Given the description of an element on the screen output the (x, y) to click on. 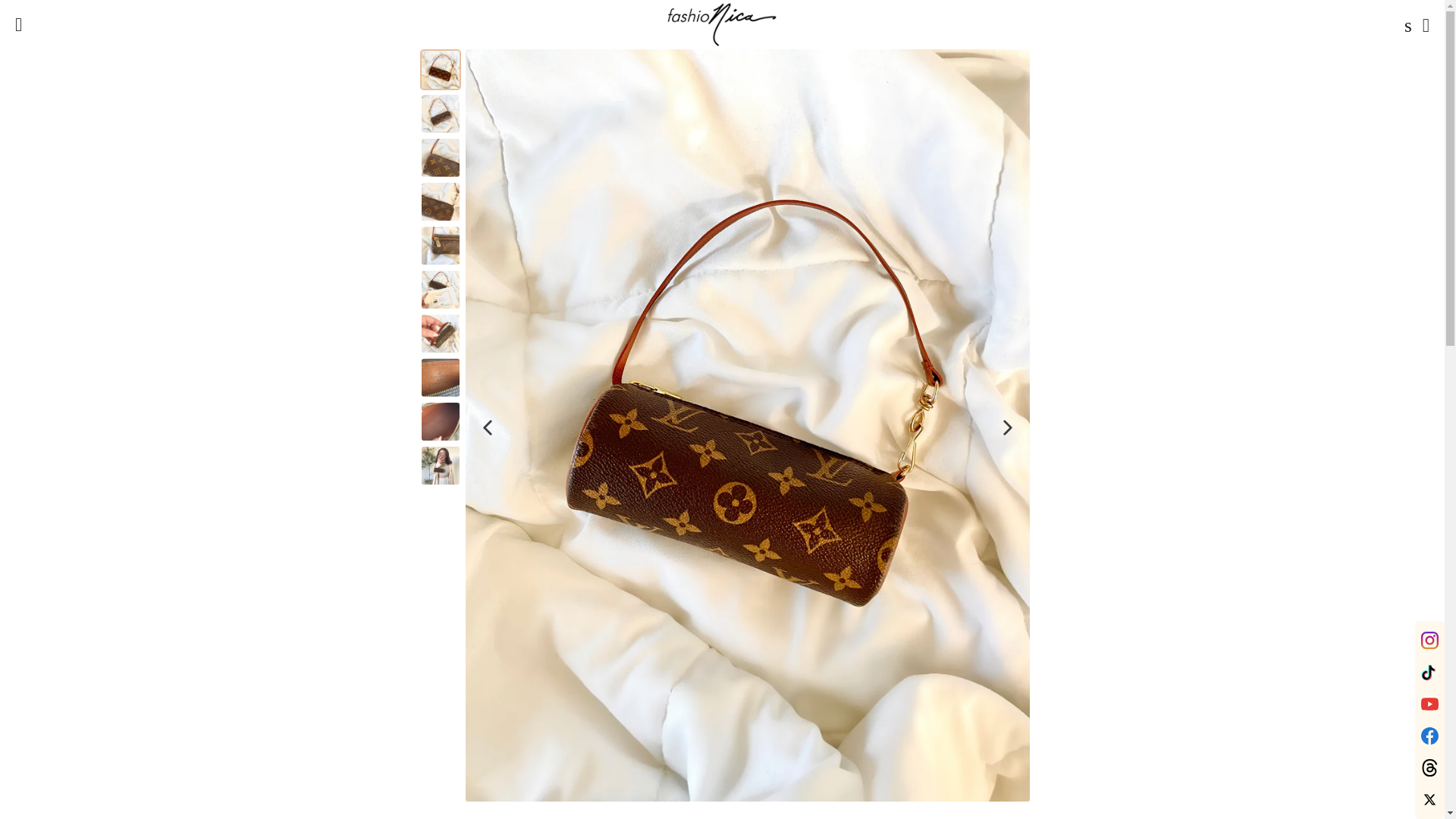
Search (1404, 23)
Menu (18, 24)
Cart (1426, 23)
